Given the description of an element on the screen output the (x, y) to click on. 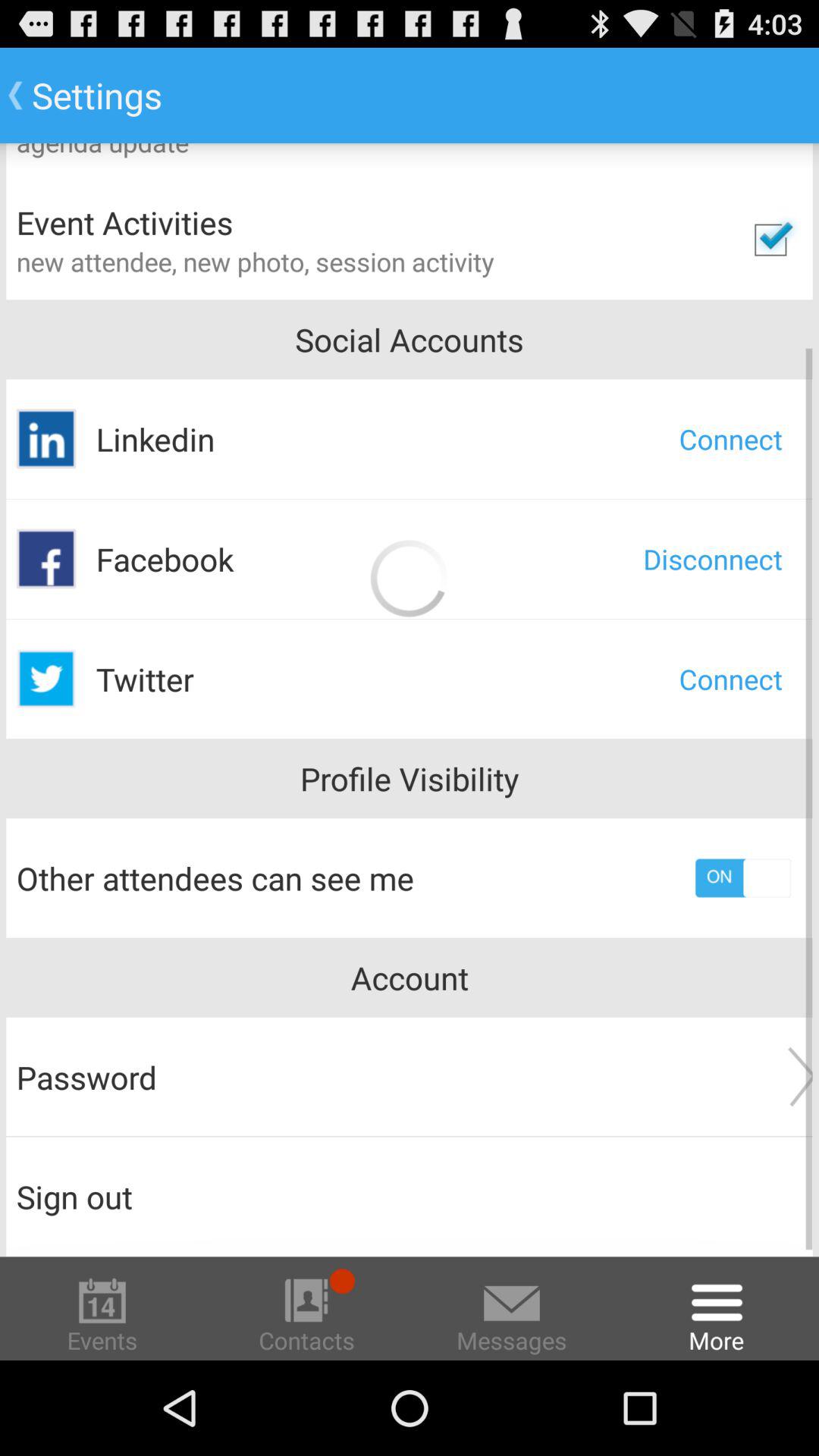
press the app above the account item (742, 877)
